Given the description of an element on the screen output the (x, y) to click on. 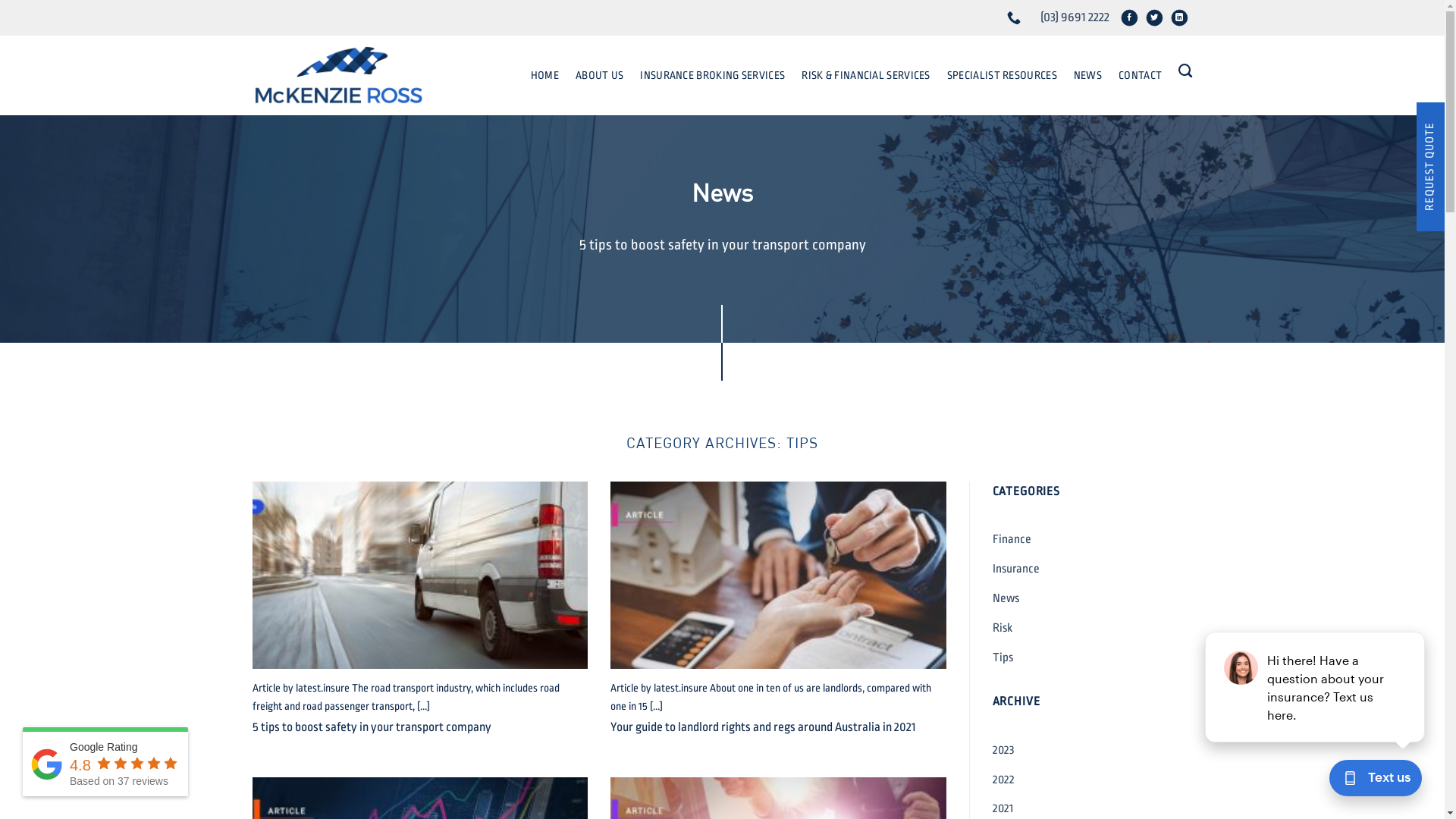
Risk Element type: text (1001, 628)
2022 Element type: text (1002, 779)
CONTACT Element type: text (1139, 74)
Skip to content Element type: text (0, 0)
RISK & FINANCIAL SERVICES Element type: text (865, 74)
Follow on Twitter Element type: hover (1158, 20)
2023 Element type: text (1002, 750)
Follow on Facebook Element type: hover (1132, 20)
(03) 9691 2222 Element type: text (1074, 16)
News Element type: text (1004, 598)
ABOUT US Element type: text (599, 74)
5 tips to boost safety in your transport company Element type: text (370, 727)
Finance Element type: text (1010, 539)
podium webchat widget prompt Element type: hover (1315, 686)
Tips Element type: text (1001, 657)
Follow on LinkedIn Element type: hover (1183, 20)
(03) 9691 2222 Element type: hover (1015, 18)
HOME Element type: text (544, 74)
NEWS Element type: text (1087, 74)
INSURANCE BROKING SERVICES Element type: text (712, 74)
Insurance Element type: text (1014, 568)
SPECIALIST RESOURCES Element type: text (1002, 74)
